Given the description of an element on the screen output the (x, y) to click on. 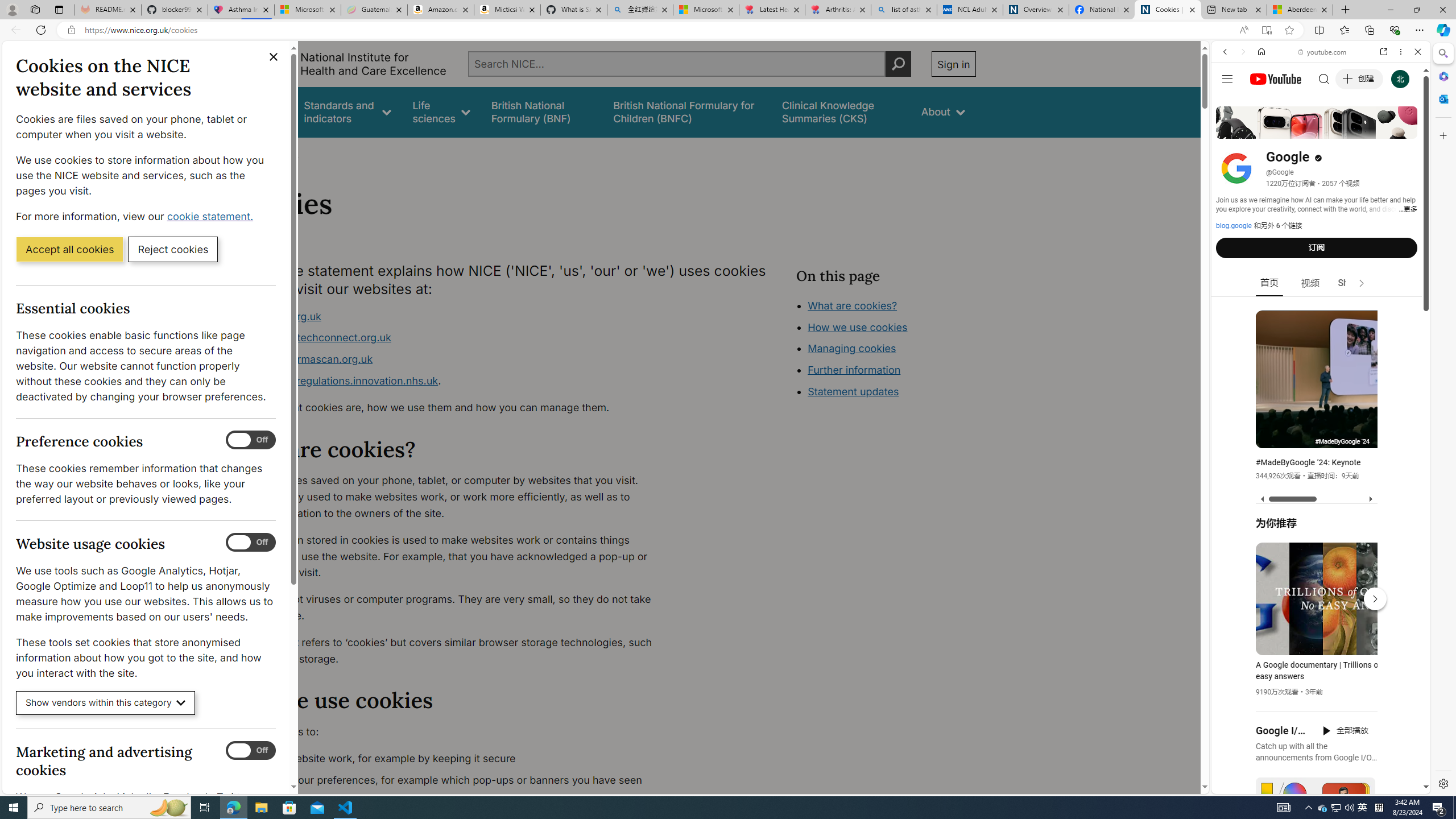
British National Formulary for Children (BNFC) (686, 111)
Click to scroll right (1407, 456)
Search Filter, WEB (1230, 129)
#you (1320, 253)
